Given the description of an element on the screen output the (x, y) to click on. 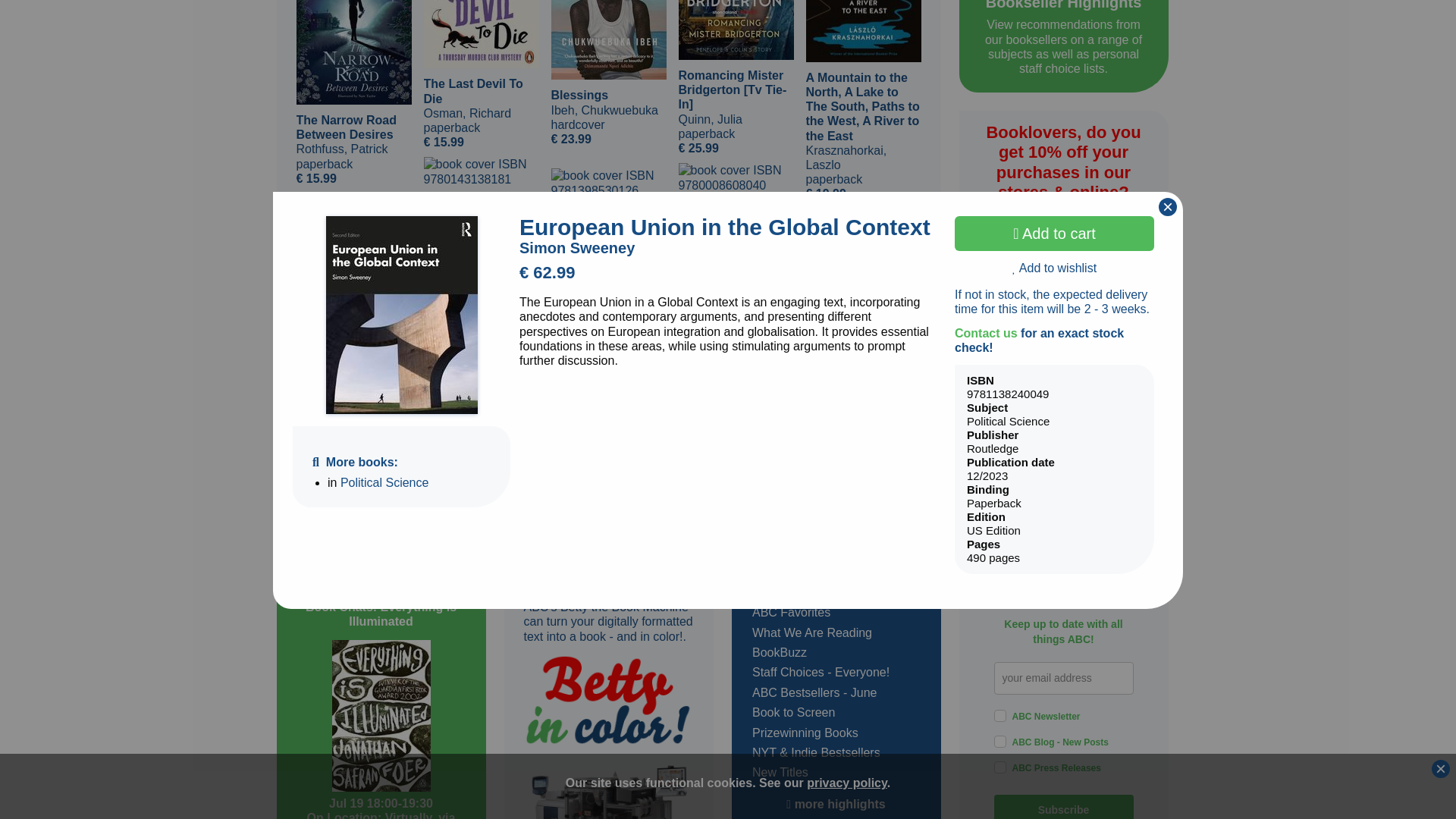
Blessings (607, 39)
The Last Devil To Die (480, 33)
The Narrow Road Between Desires (352, 52)
